Given the description of an element on the screen output the (x, y) to click on. 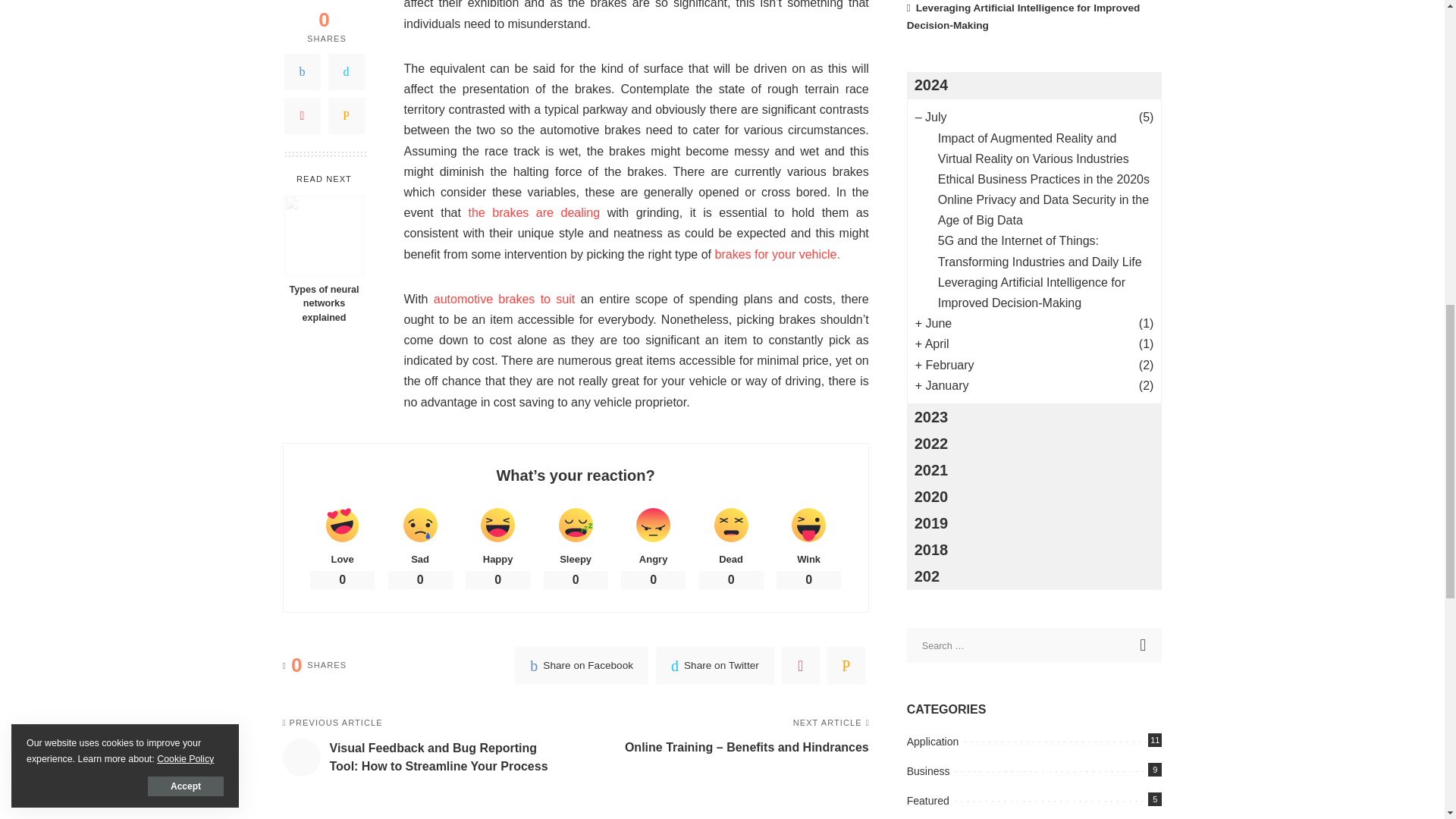
Search (1143, 645)
Search (1143, 645)
